Given the description of an element on the screen output the (x, y) to click on. 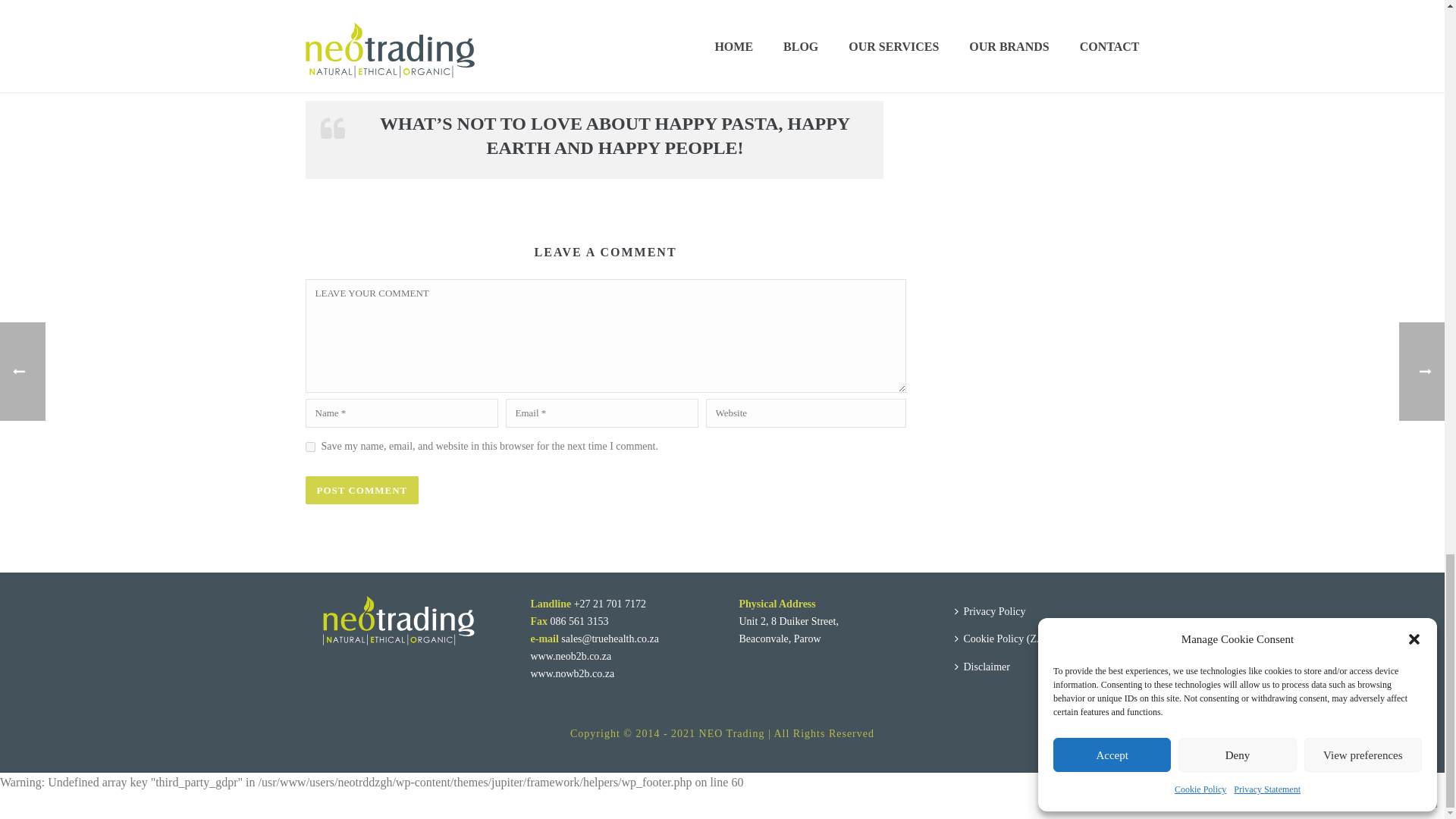
POST COMMENT (361, 489)
yes (309, 447)
POST COMMENT (361, 489)
